Given the description of an element on the screen output the (x, y) to click on. 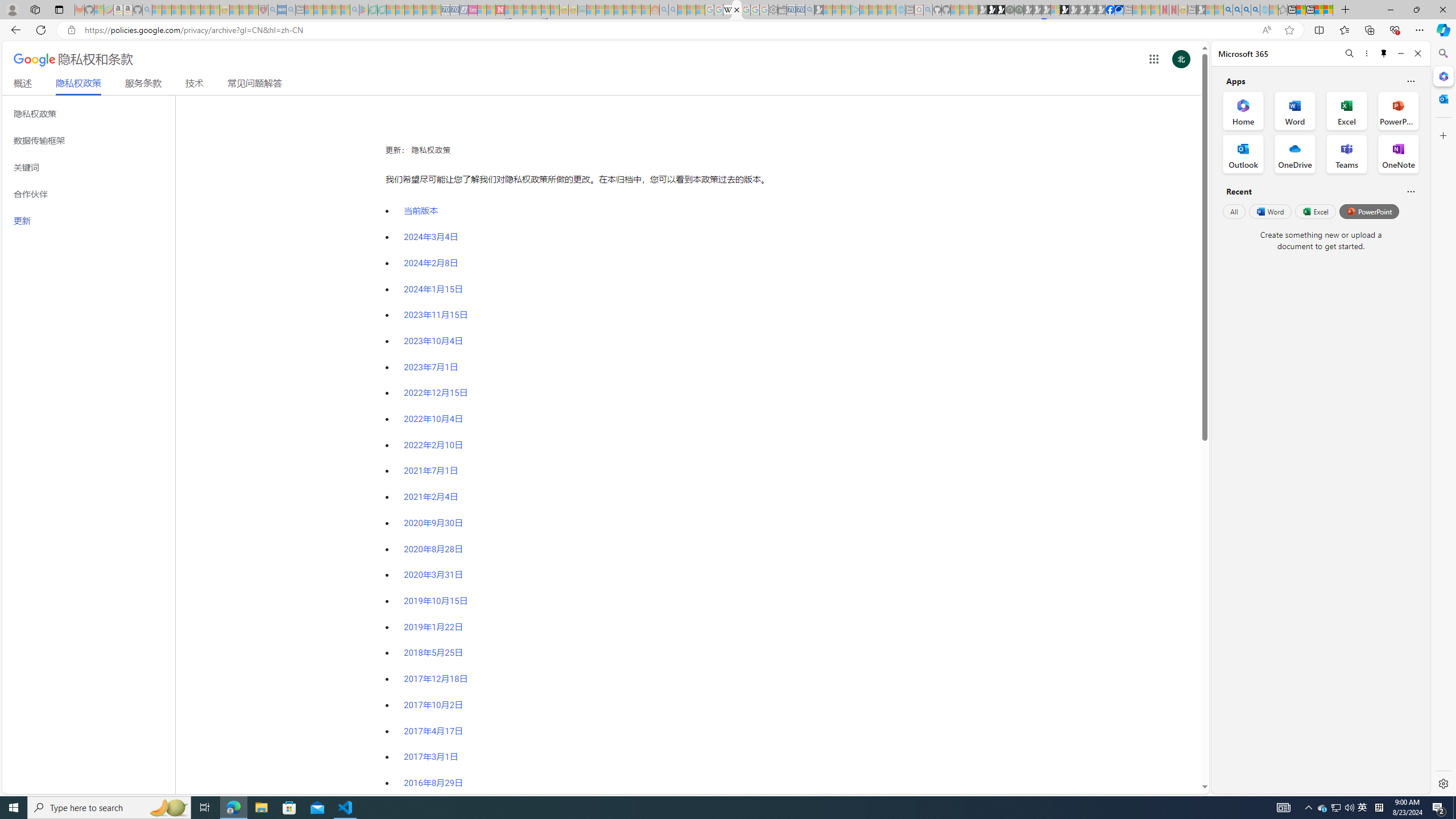
Google Chrome Internet Browser Download - Search Images (1255, 9)
Nordace | Facebook (1109, 9)
PowerPoint Office App (1398, 110)
Home Office App (1243, 110)
PowerPoint (1369, 210)
